Given the description of an element on the screen output the (x, y) to click on. 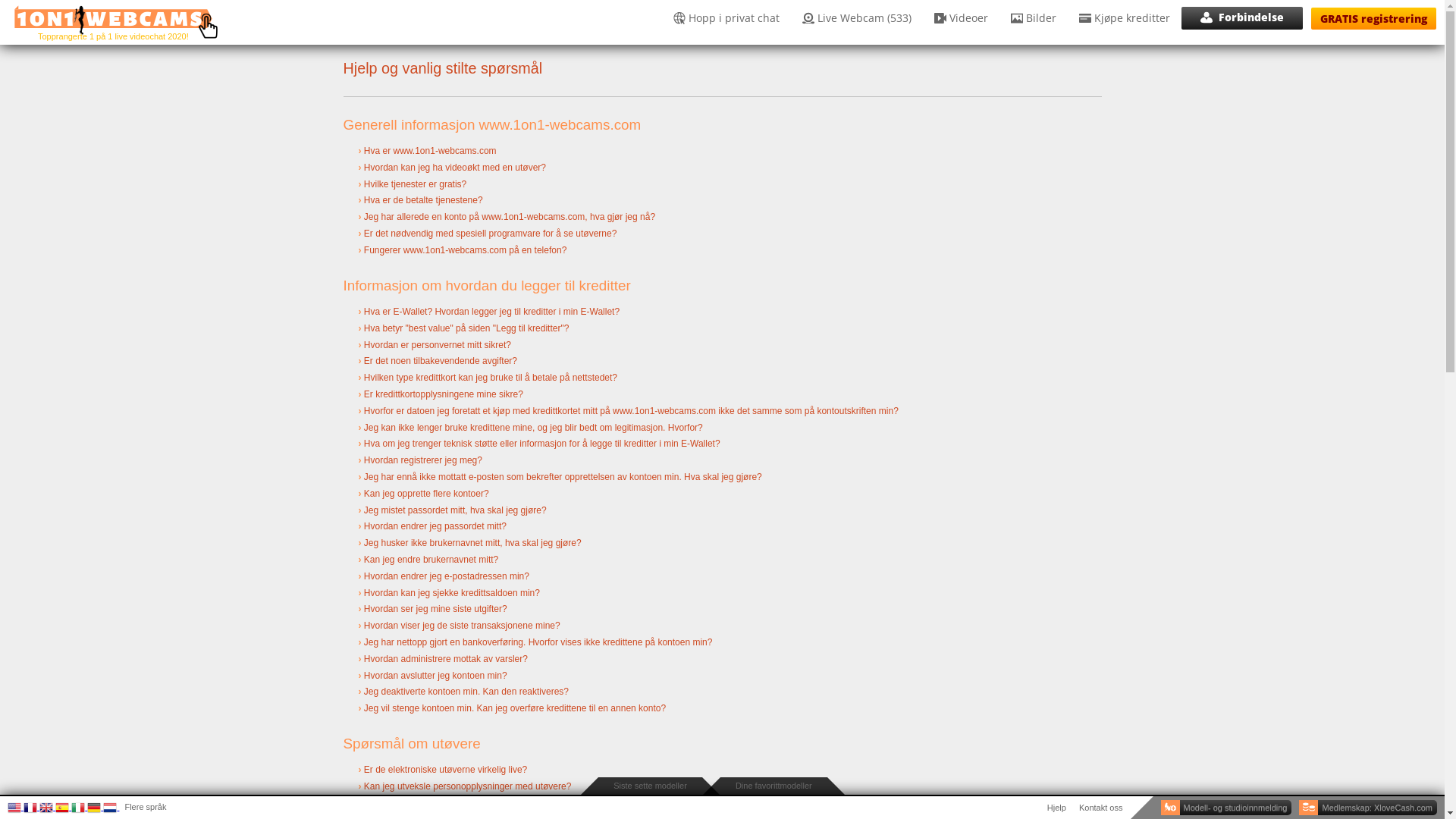
Er kredittkortopplysningene mine sikre? Element type: text (443, 394)
Modell- og studioinnmelding Element type: text (1226, 807)
Medlemskap: XloveCash.com Element type: text (1368, 807)
Hvordan registrerer jeg meg? Element type: text (721, 462)
Hvordan ser jeg mine siste utgifter? Element type: text (435, 608)
Hvordan avslutter jeg kontoen min? Element type: text (435, 675)
Hvordan endrer jeg e-postadressen min? Element type: text (721, 578)
GRATIS registrering Element type: text (1373, 18)
Siste sette modeller Element type: text (649, 785)
Live Webcam (533) Element type: text (856, 18)
Hvordan viser jeg de siste transaksjonene mine? Element type: text (721, 627)
Hvordan avslutter jeg kontoen min? Element type: text (721, 677)
Kan jeg opprette flere kontoer? Element type: text (721, 495)
Er det noen tilbakevendende avgifter? Element type: text (721, 362)
Hvordan kan jeg sjekke kredittsaldoen min? Element type: text (451, 592)
Hva er www.1on1-webcams.com Element type: text (430, 150)
Jeg deaktiverte kontoen min. Kan den reaktiveres? Element type: text (466, 691)
Kan jeg endre brukernavnet mitt? Element type: text (721, 561)
Hva er www.1on1-webcams.com Element type: text (721, 152)
Er det noen tilbakevendende avgifter? Element type: text (440, 360)
Hva er de betalte tjenestene? Element type: text (423, 199)
Hvordan endrer jeg passordet mitt? Element type: text (435, 525)
Hvordan ser jeg mine siste utgifter? Element type: text (721, 610)
Hvordan registrerer jeg meg? Element type: text (423, 460)
Hopp i privat chat Element type: text (726, 18)
Forbindelse Element type: text (1241, 17)
Jeg deaktiverte kontoen min. Kan den reaktiveres? Element type: text (721, 693)
Hvordan administrere mottak av varsler? Element type: text (445, 658)
Hvordan viser jeg de siste transaksjonene mine? Element type: text (462, 625)
Er kredittkortopplysningene mine sikre? Element type: text (721, 396)
Hvordan er personvernet mitt sikret? Element type: text (721, 346)
Kontakt oss Element type: text (1100, 807)
Hvordan endrer jeg e-postadressen min? Element type: text (446, 576)
Hvordan administrere mottak av varsler? Element type: text (721, 660)
Kan jeg endre brukernavnet mitt? Element type: text (431, 559)
Dine favorittmodeller Element type: text (773, 785)
Videoer Element type: text (960, 18)
Hvilke tjenester er gratis? Element type: text (721, 186)
Hva er de betalte tjenestene? Element type: text (721, 202)
Bilder Element type: text (1033, 18)
Kan jeg opprette flere kontoer? Element type: text (426, 493)
Hvordan er personvernet mitt sikret? Element type: text (437, 344)
Hvordan endrer jeg passordet mitt? Element type: text (721, 528)
Hjelp Element type: text (1056, 807)
Hvilke tjenester er gratis? Element type: text (415, 183)
Hvordan kan jeg sjekke kredittsaldoen min? Element type: text (721, 594)
